Given the description of an element on the screen output the (x, y) to click on. 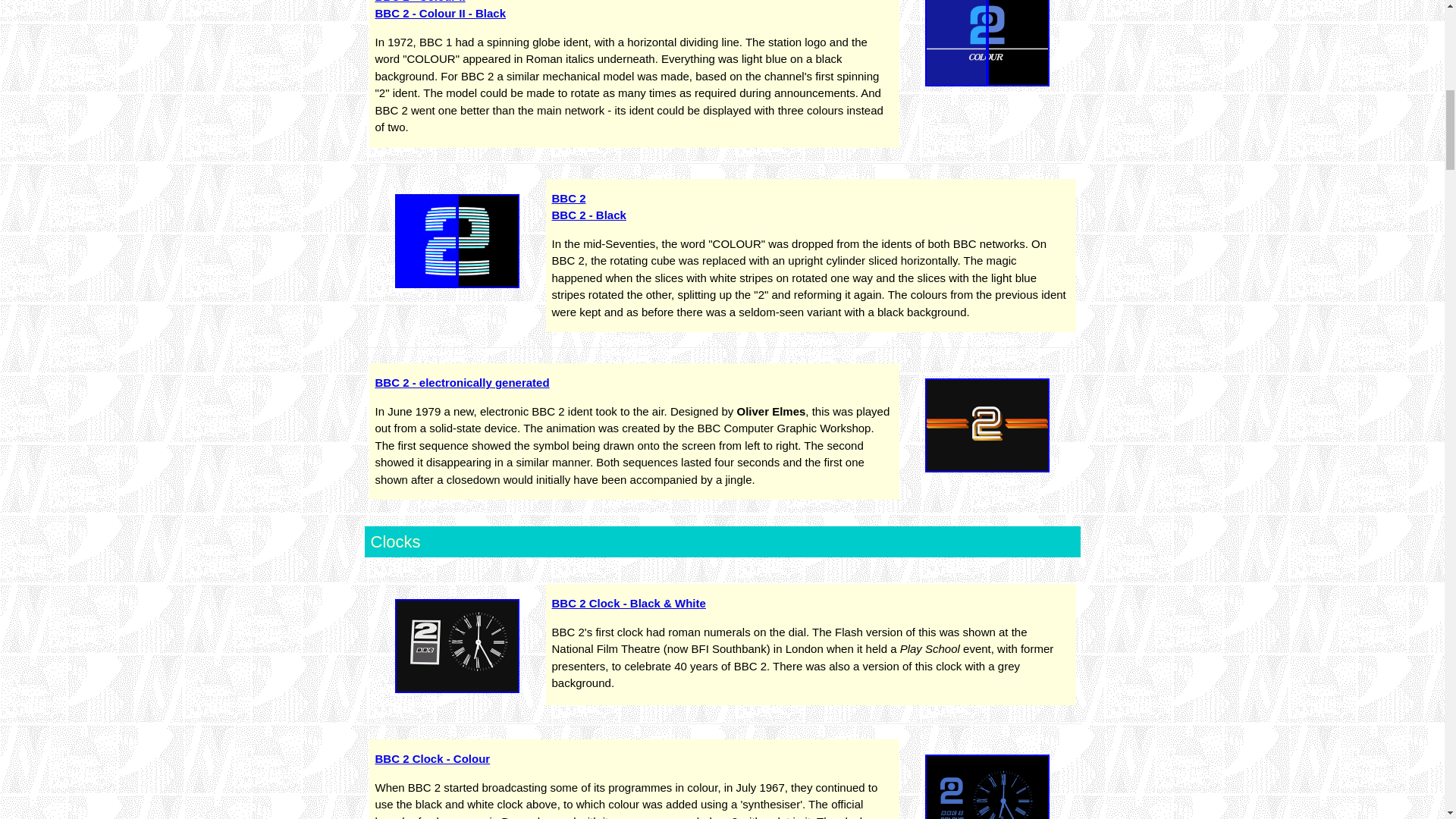
BBC 2 twin-striped logo from 1979 (986, 425)
BBC 2 - Black (588, 214)
BBC 2 COLOUR - rotating cube ident - blue (987, 42)
Early BBC 2 clock with wonky symbol (456, 645)
BBC 2 (568, 197)
BBC 2 - Colour II - Black (439, 12)
BBC 2 - electronically generated (461, 382)
BBC 2 Clock - Colour (431, 758)
BBC 2 - Colour II (419, 1)
